Given the description of an element on the screen output the (x, y) to click on. 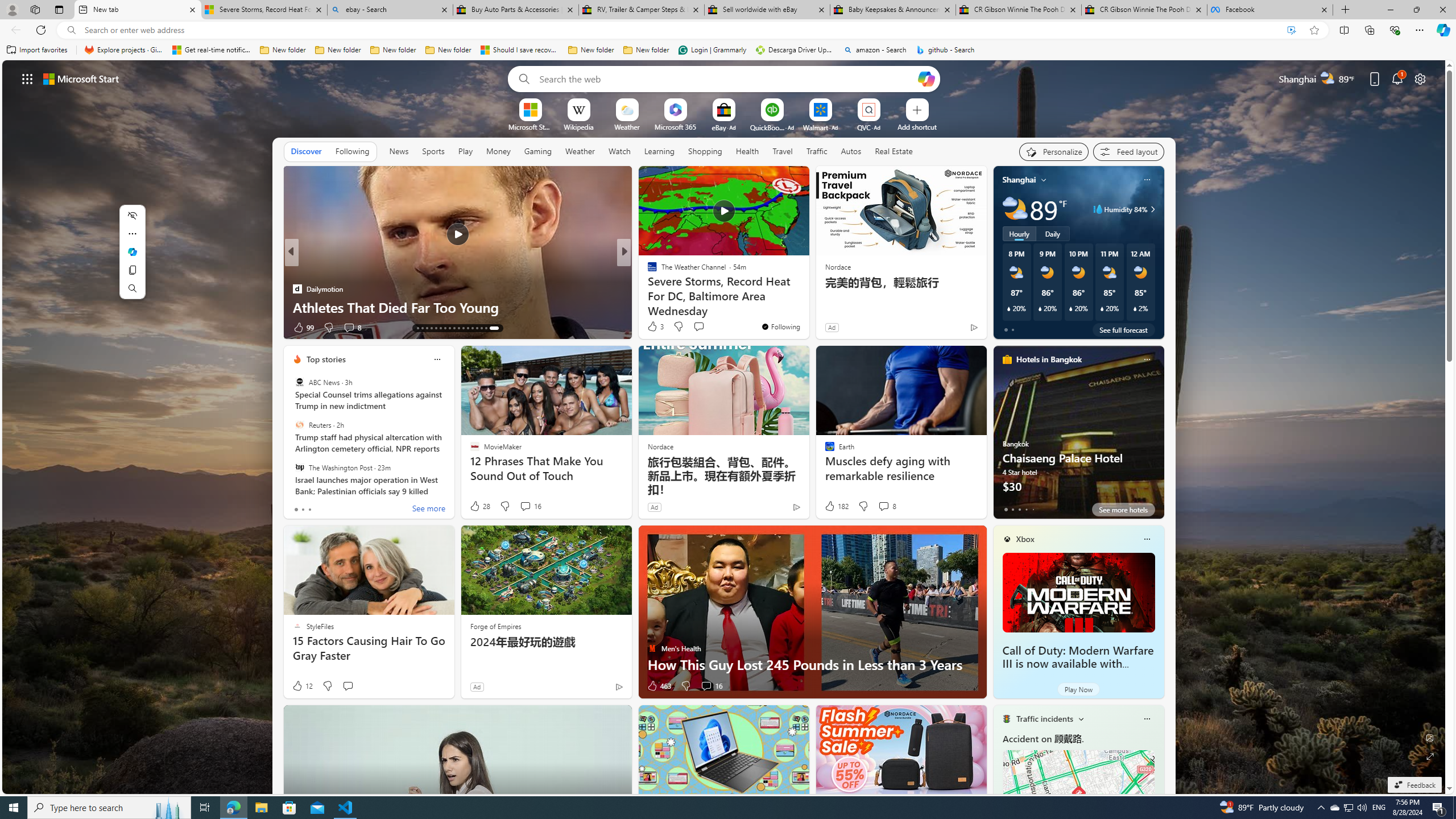
Humidity 84% (1150, 208)
7 Like (651, 327)
AutomationID: tab-13 (420, 328)
102 Like (654, 327)
Feed settings (1128, 151)
AutomationID: tab-21 (460, 328)
AutomationID: tab-23 (470, 328)
github - Search (945, 49)
